Given the description of an element on the screen output the (x, y) to click on. 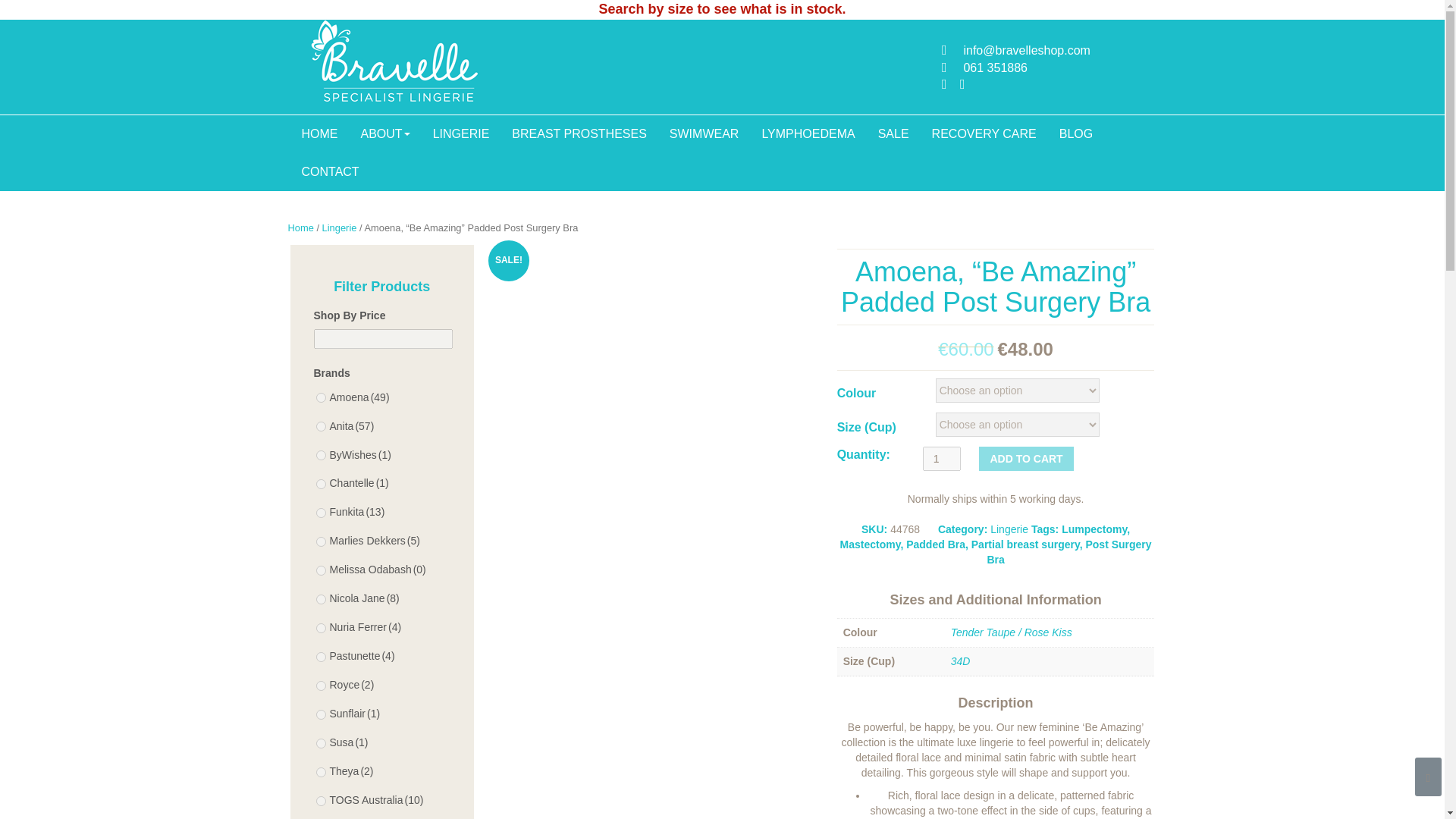
BLOG (1075, 134)
33 (319, 599)
Lingerie (1008, 529)
ADD TO CART (1025, 458)
061 351886 (994, 67)
CONTACT (329, 171)
Lingerie (338, 227)
BREAST PROSTHESES (579, 134)
SALE (893, 134)
34 (319, 714)
